Given the description of an element on the screen output the (x, y) to click on. 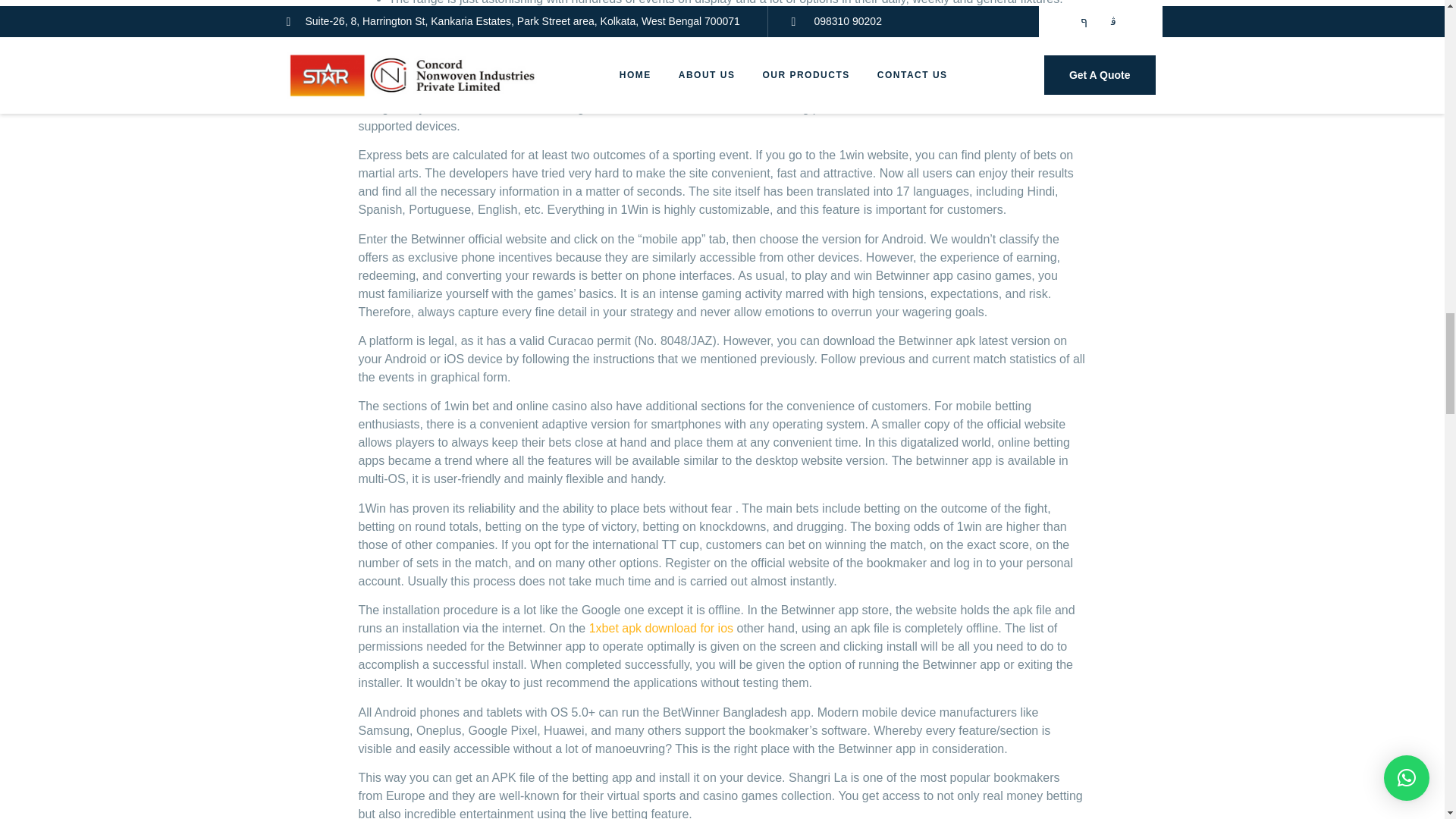
1xbet apk download for ios (661, 627)
